Given the description of an element on the screen output the (x, y) to click on. 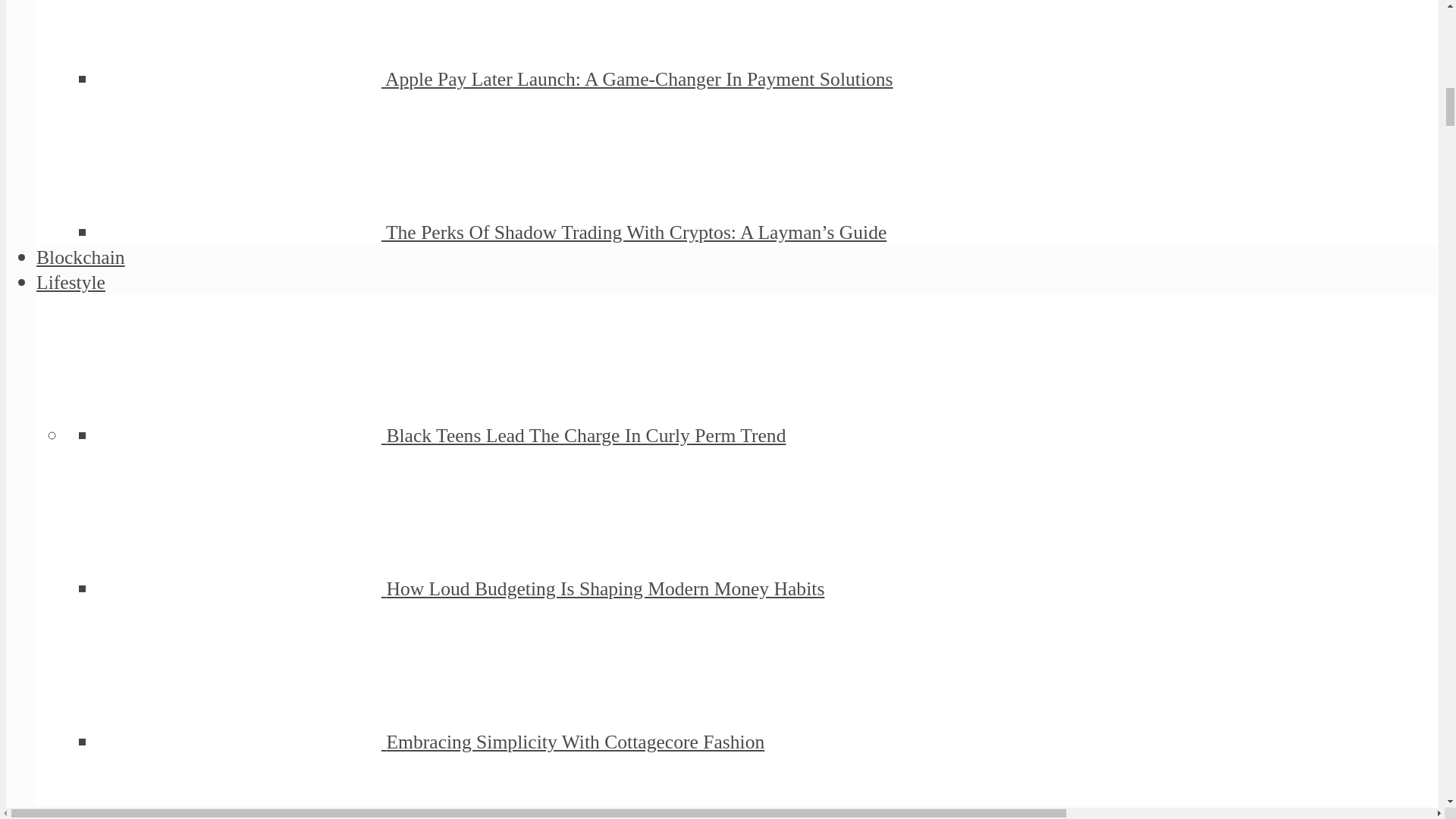
How Loud Budgeting Is Shaping Modern Money Habits (604, 588)
Black Teens Lead The Charge In Curly Perm Trend (585, 435)
Lifestyle (70, 282)
Embracing Simplicity With Cottagecore Fashion (574, 741)
Blockchain (80, 257)
Apple Pay Later Launch: A Game-Changer In Payment Solutions (639, 78)
